Given the description of an element on the screen output the (x, y) to click on. 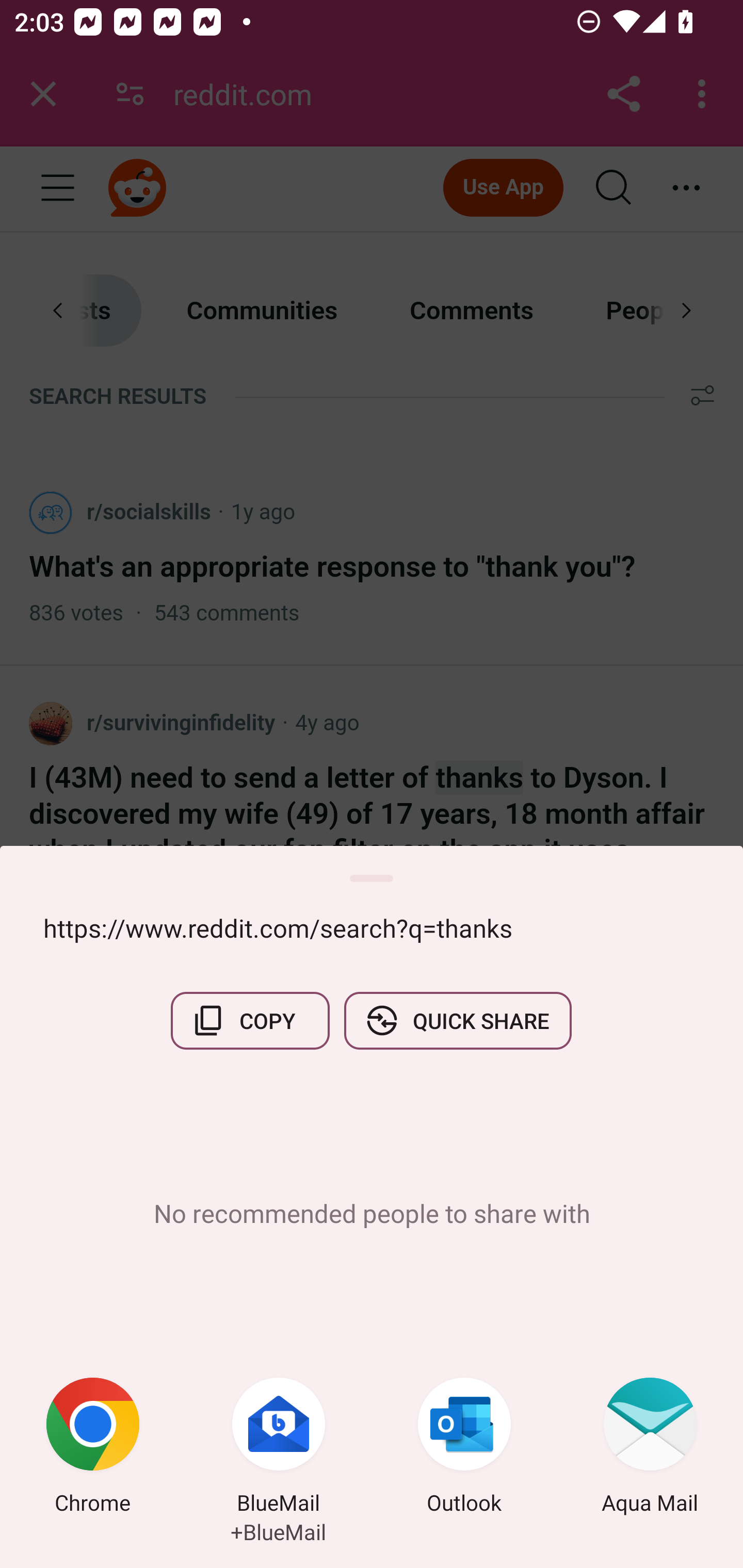
COPY (249, 1020)
QUICK SHARE (457, 1020)
Chrome (92, 1448)
BlueMail +BlueMail (278, 1448)
Outlook (464, 1448)
Aqua Mail (650, 1448)
